Given the description of an element on the screen output the (x, y) to click on. 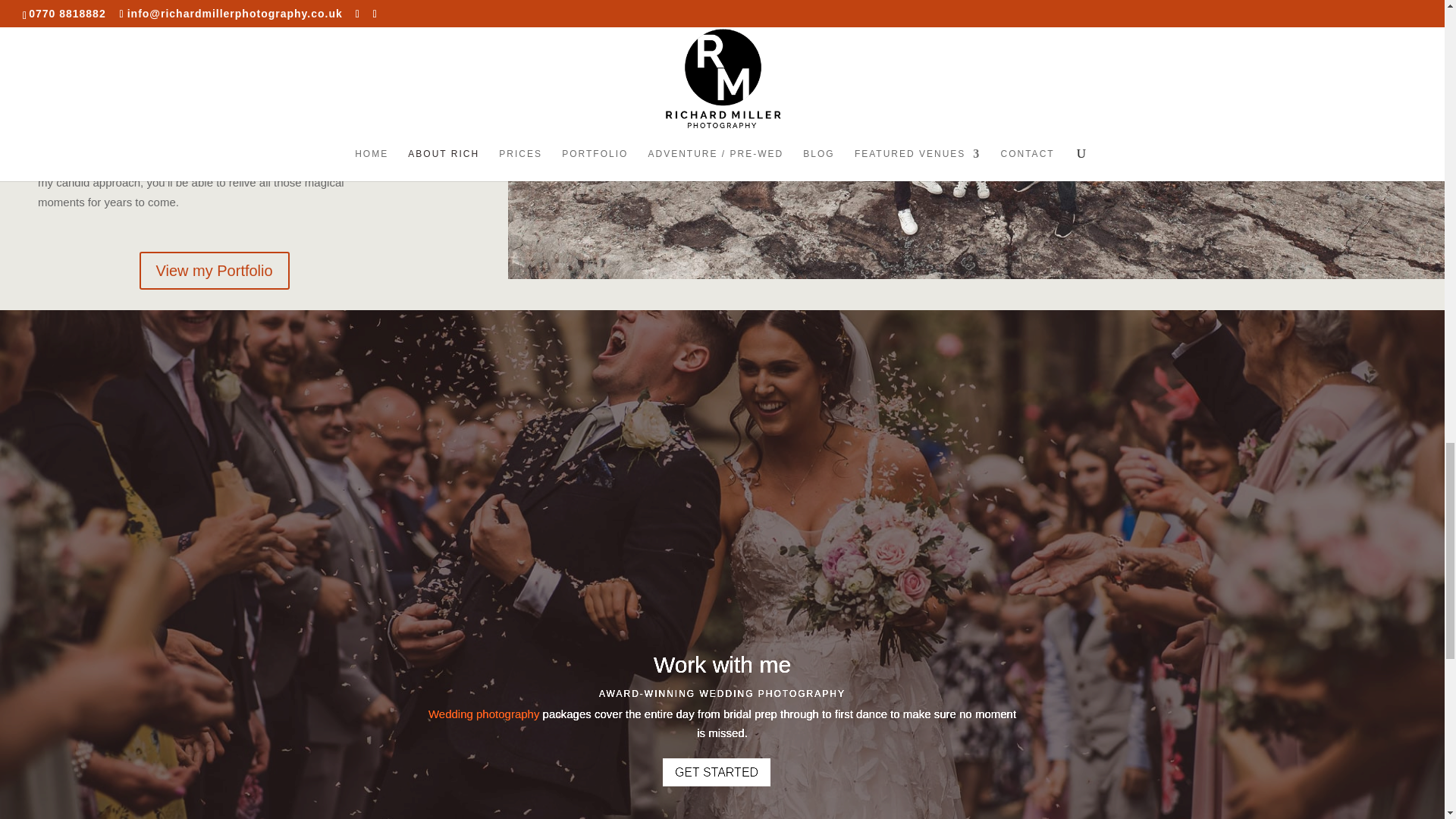
Wedding photography (484, 713)
Wedding photography (484, 713)
GET STARTED (716, 772)
View my Portfolio (214, 270)
